Given the description of an element on the screen output the (x, y) to click on. 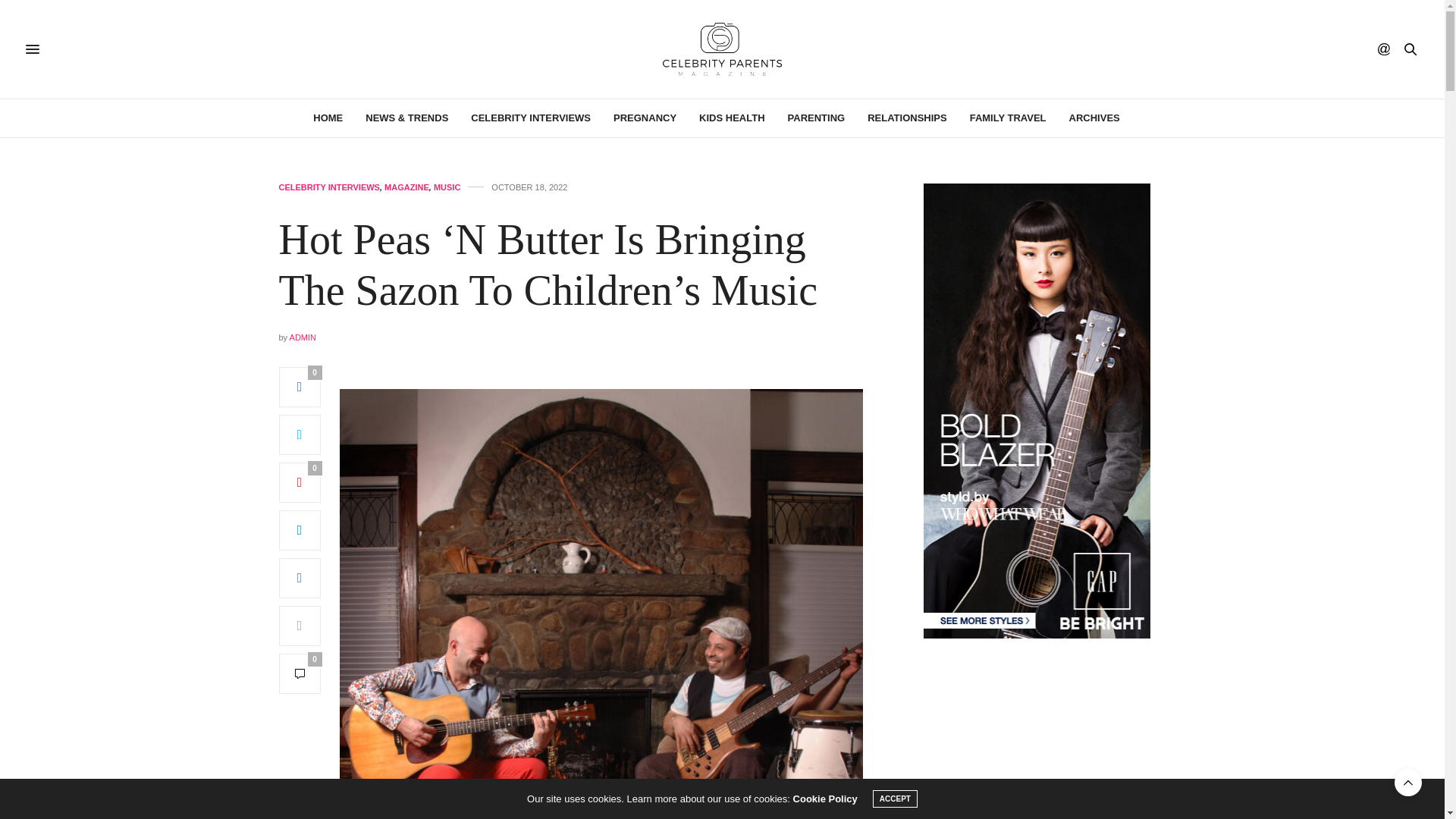
RELATIONSHIPS (907, 118)
ARCHIVES (1093, 118)
0 (299, 386)
PARENTING (816, 118)
0 (299, 673)
Scroll To Top (1408, 782)
MUSIC (446, 187)
Posts by admin (302, 337)
FAMILY TRAVEL (1007, 118)
CELEBRITY INTERVIEWS (329, 187)
0 (299, 482)
ADMIN (302, 337)
CELEBRITY INTERVIEWS (530, 118)
Celebrity Parents Magazine (721, 49)
KIDS HEALTH (731, 118)
